Given the description of an element on the screen output the (x, y) to click on. 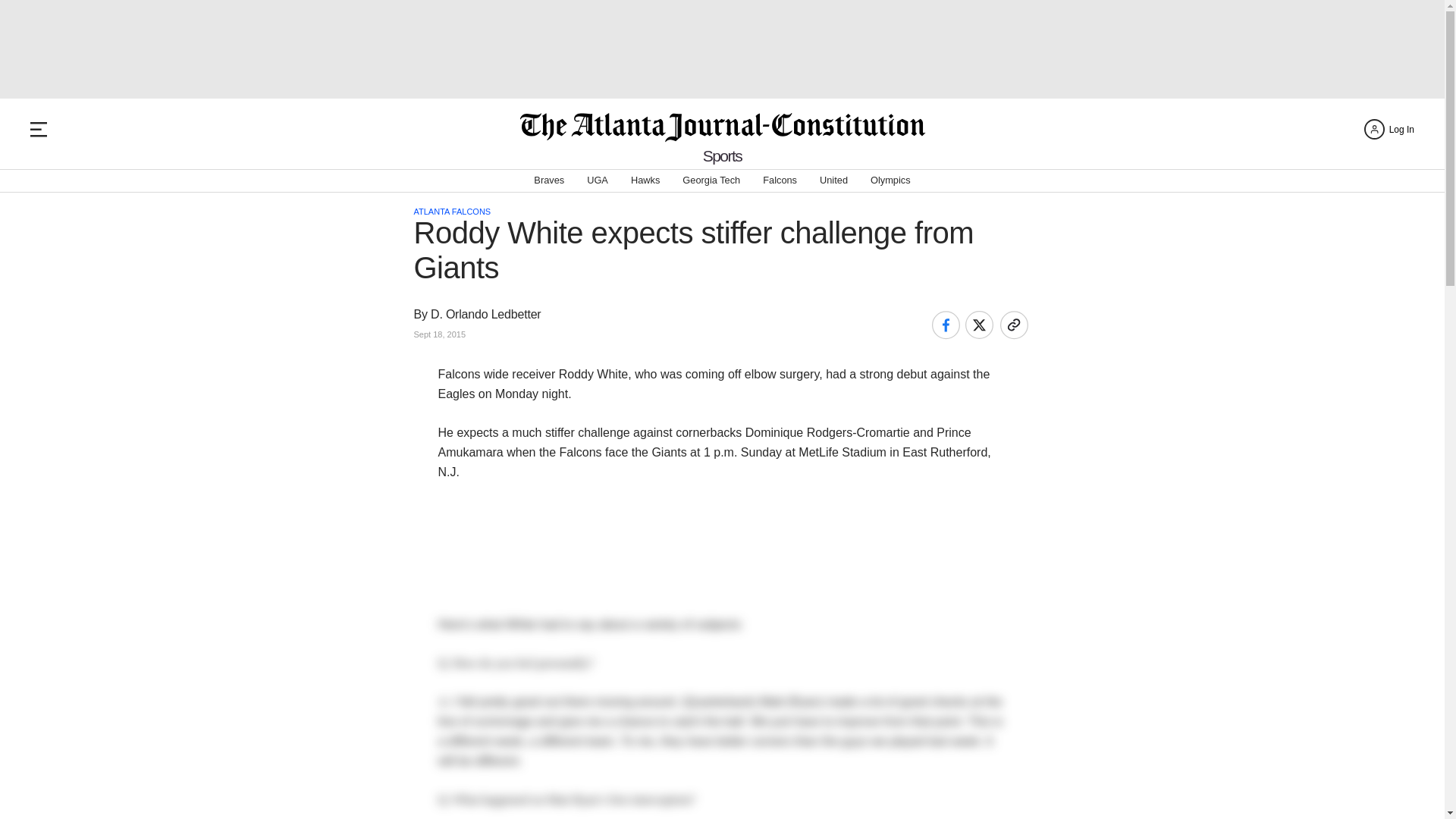
Hawks (644, 180)
Olympics (890, 180)
Georgia Tech (710, 180)
Falcons (779, 180)
Braves (549, 180)
UGA (597, 180)
United (833, 180)
Sports (722, 155)
